Given the description of an element on the screen output the (x, y) to click on. 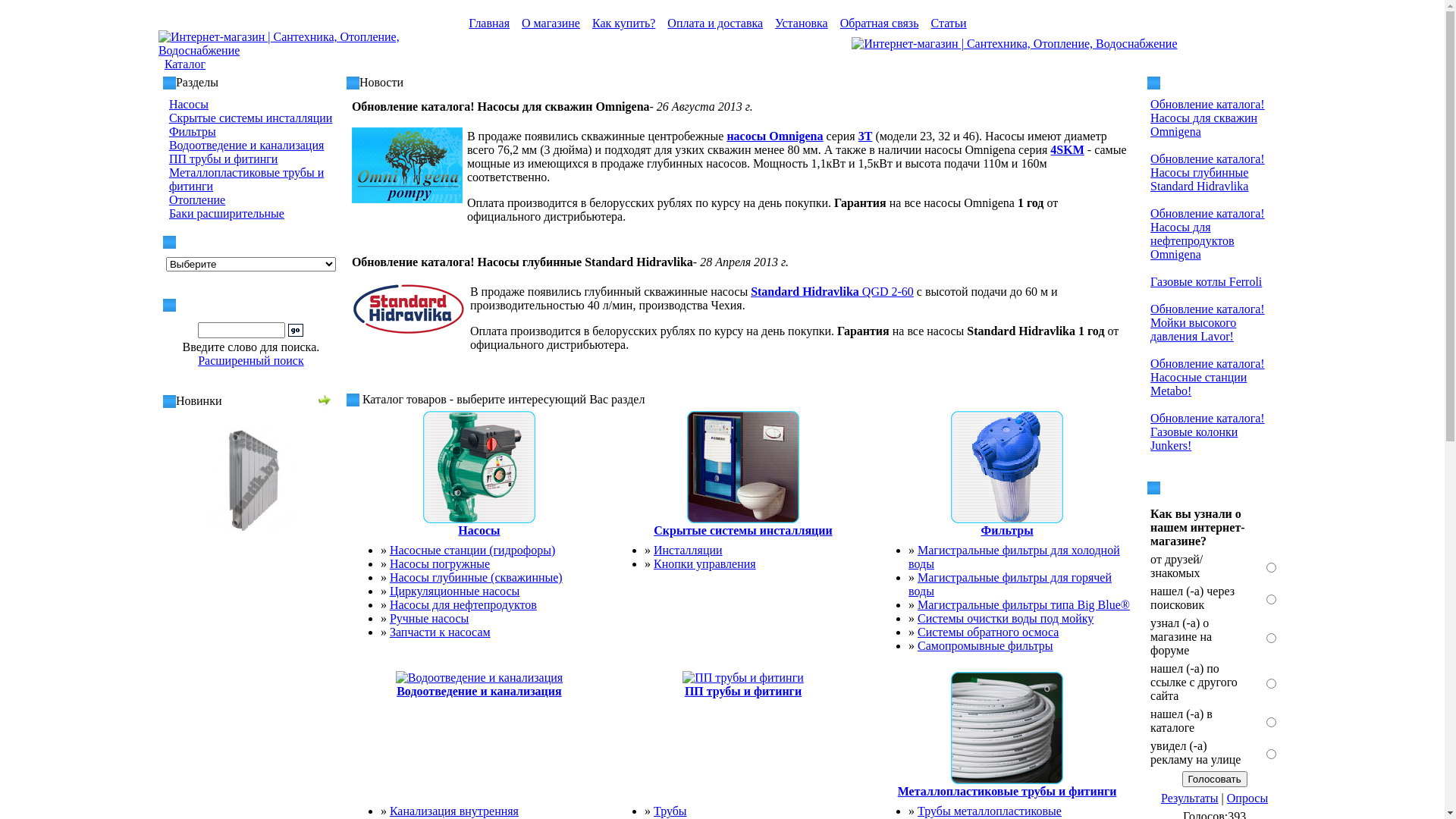
  Element type: text (167, 159)
  Element type: text (167, 200)
3T Element type: text (865, 135)
4SKM Element type: text (1066, 149)
  Element type: text (167, 104)
  Element type: text (167, 131)
  Element type: text (167, 179)
Standard Hidravlika QGD 2-60 Element type: text (831, 291)
  Element type: text (167, 145)
  Element type: text (167, 118)
  Element type: text (167, 213)
